Given the description of an element on the screen output the (x, y) to click on. 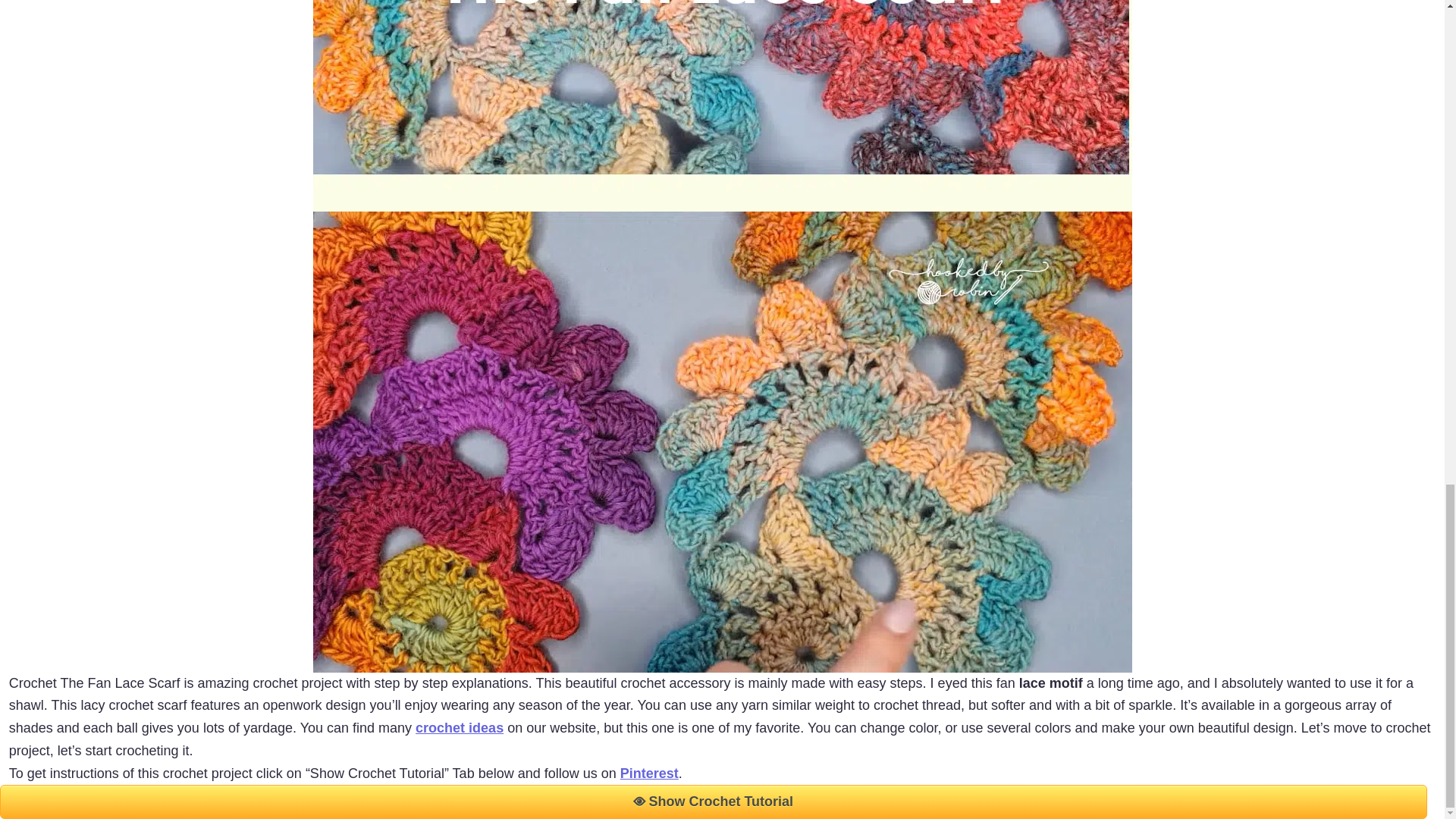
Pinterest (649, 773)
crochet ideas (458, 727)
